Given the description of an element on the screen output the (x, y) to click on. 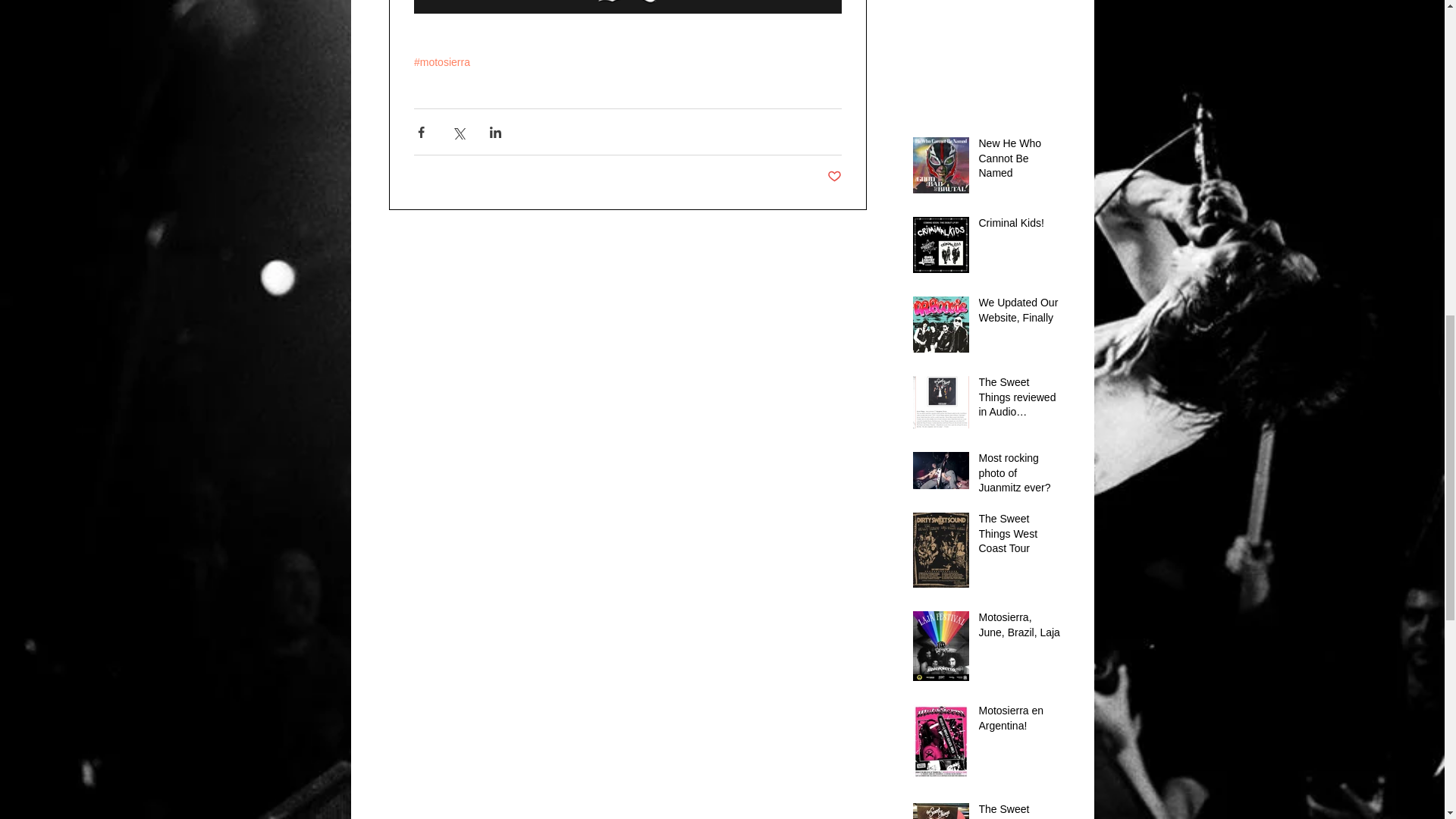
Criminal Kids! (1018, 226)
Motosierra en Argentina! (1018, 721)
Most rocking photo of Juanmitz ever? (1018, 476)
We Updated Our Website, Finally (1018, 313)
The Sweet Things vinyl is available (1018, 810)
Post not marked as liked (834, 176)
Motosierra, June, Brazil, Laja (1018, 628)
The Sweet Things reviewed in Audio Ammunition (1018, 400)
The Sweet Things West Coast Tour (1018, 536)
New He Who Cannot Be Named (1018, 161)
